Given the description of an element on the screen output the (x, y) to click on. 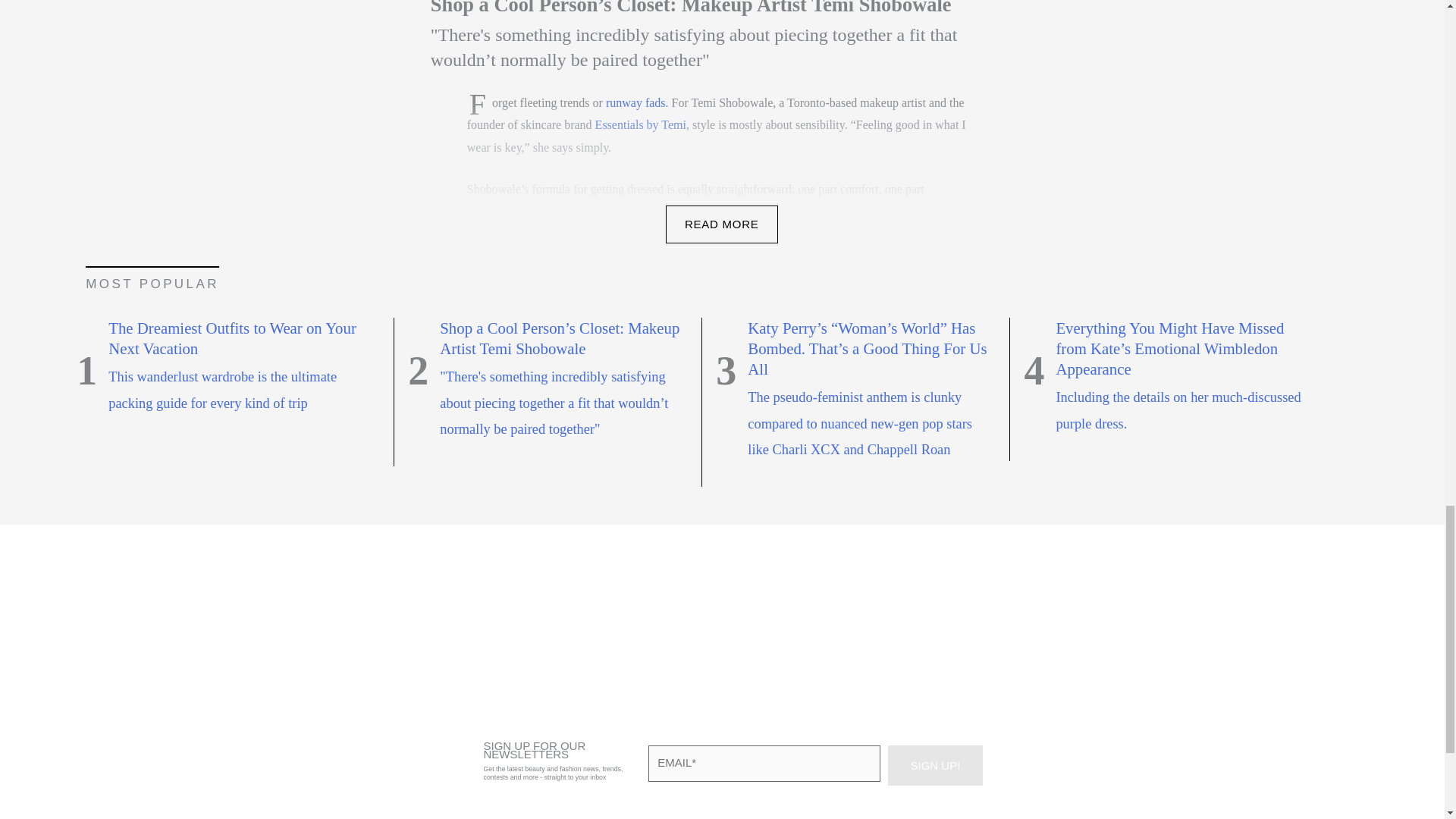
Sign Up! (934, 765)
